Given the description of an element on the screen output the (x, y) to click on. 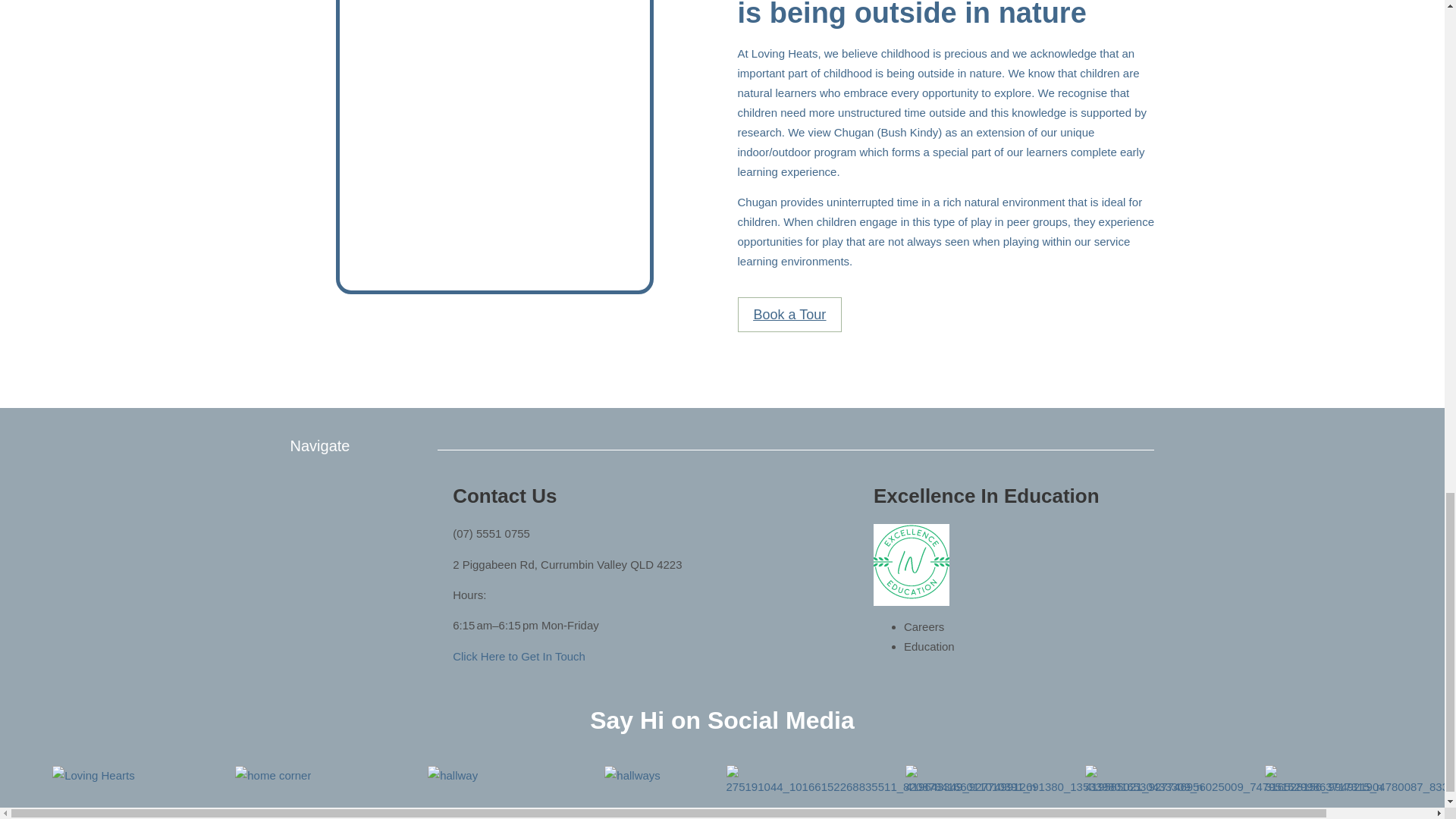
hallway (452, 775)
home corner (272, 775)
Book a Tour (788, 314)
hallways (632, 775)
Click Here to Get In Touch (518, 656)
Loving Hearts (93, 775)
image001 (911, 561)
